Given the description of an element on the screen output the (x, y) to click on. 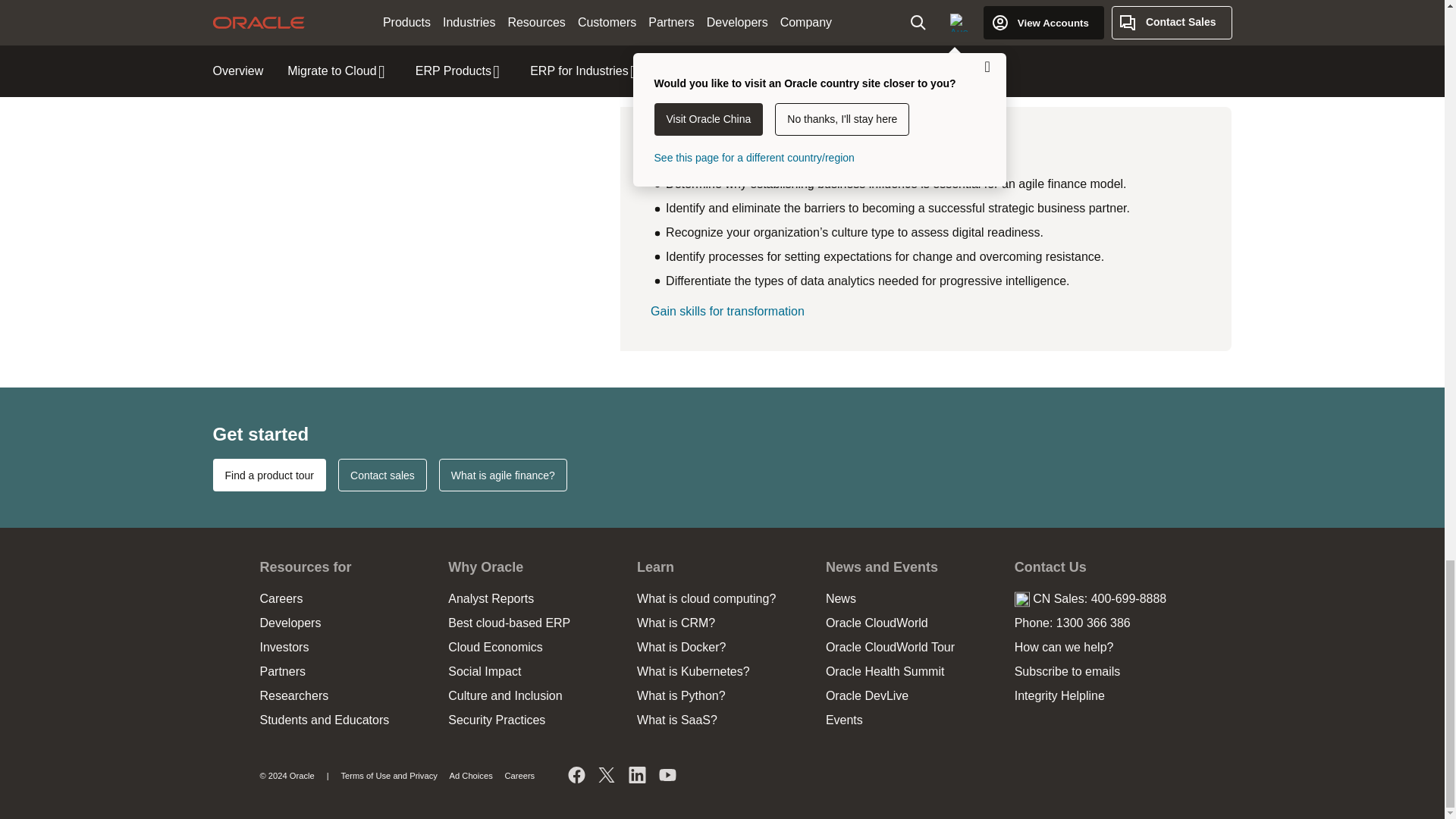
Contact Oracle ERP (381, 474)
